Given the description of an element on the screen output the (x, y) to click on. 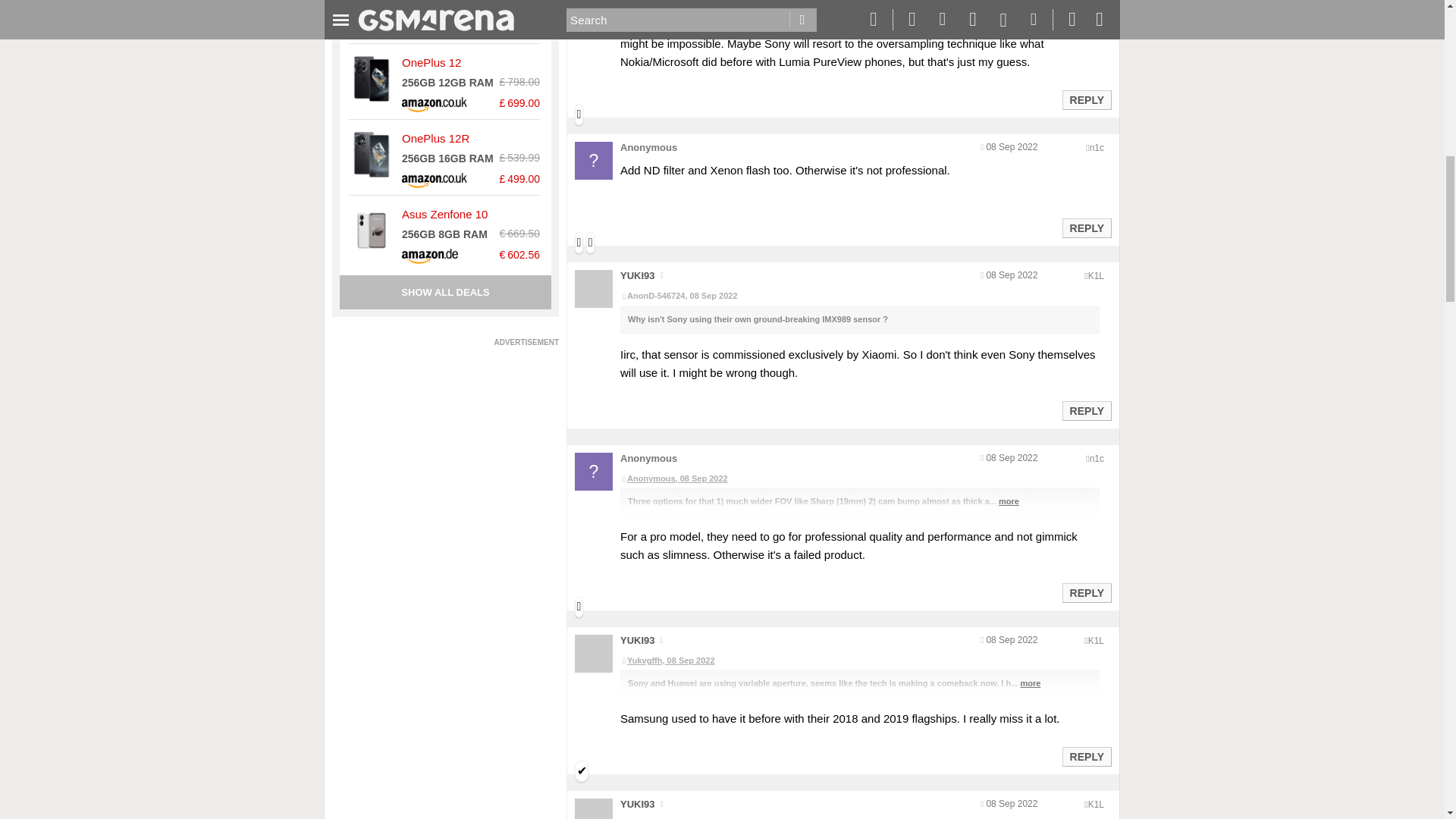
Reply to this post (1086, 592)
Encoded anonymized location (1096, 458)
Reply to this post (1086, 756)
Reply to this post (1086, 100)
Encoded anonymized location (1095, 276)
Encoded anonymized location (1096, 147)
Reply to this post (1086, 410)
Encoded anonymized location (1095, 640)
Encoded anonymized location (1095, 804)
Reply to this post (1086, 227)
